Given the description of an element on the screen output the (x, y) to click on. 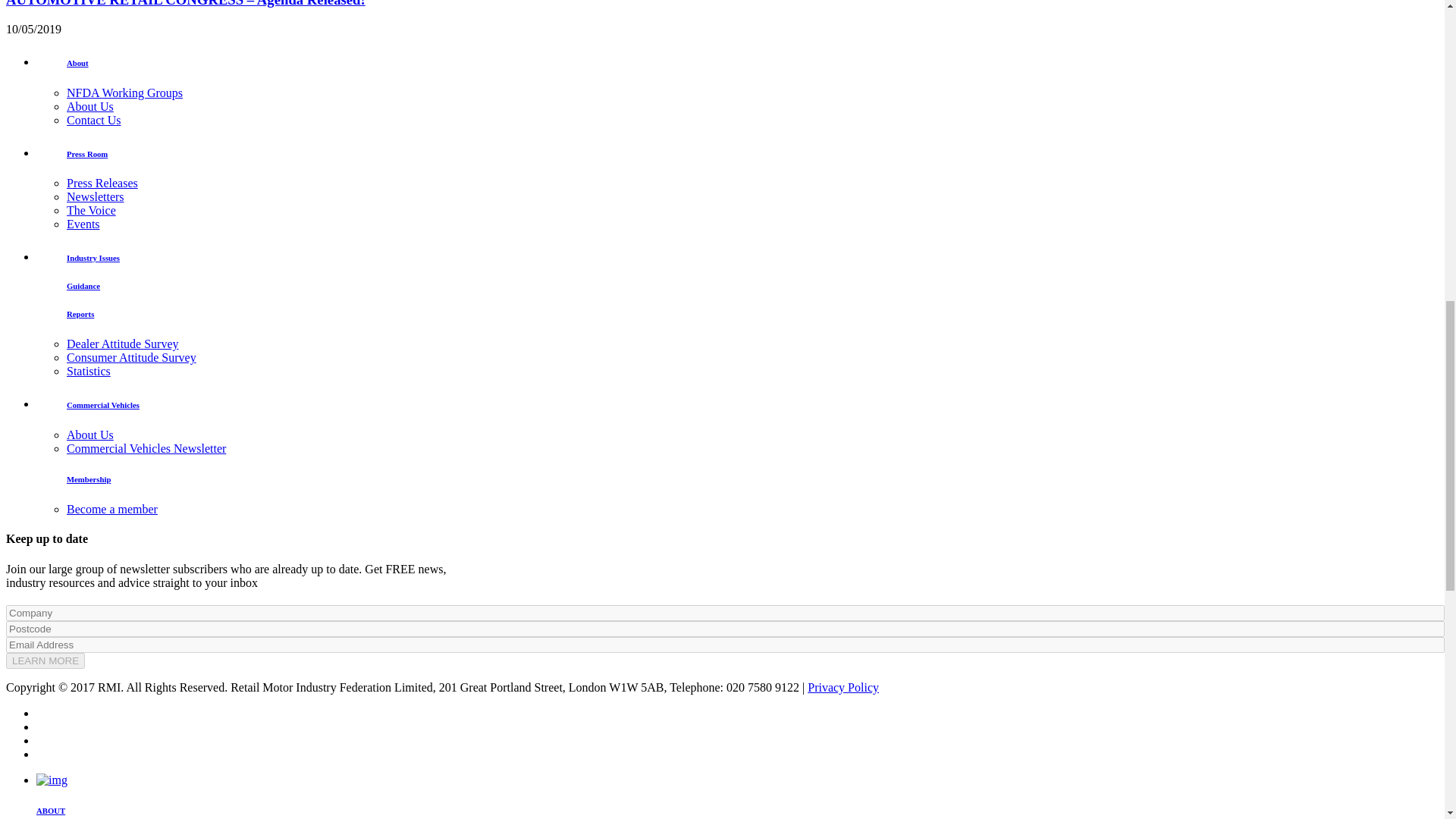
Newsletters (94, 196)
About Us (89, 106)
Events (83, 223)
The Voice (91, 210)
Statistics (88, 370)
Dealer Attitude Survey (122, 343)
Press Releases (102, 182)
NFDA Working Groups (124, 92)
Consumer Attitude Survey (131, 357)
About Us (89, 434)
Contact Us (93, 119)
